Given the description of an element on the screen output the (x, y) to click on. 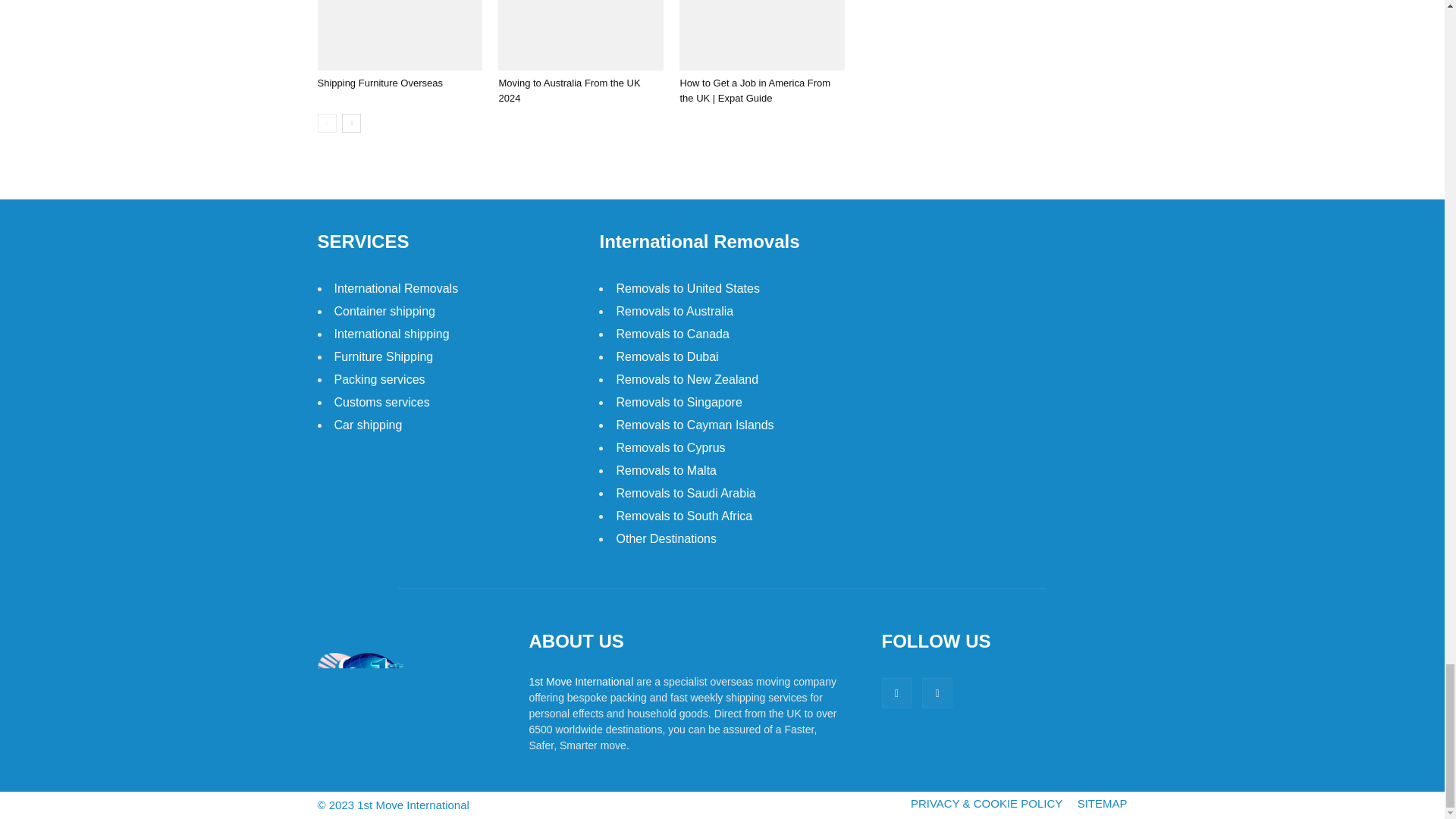
Shipping Furniture Overseas (399, 35)
